Given the description of an element on the screen output the (x, y) to click on. 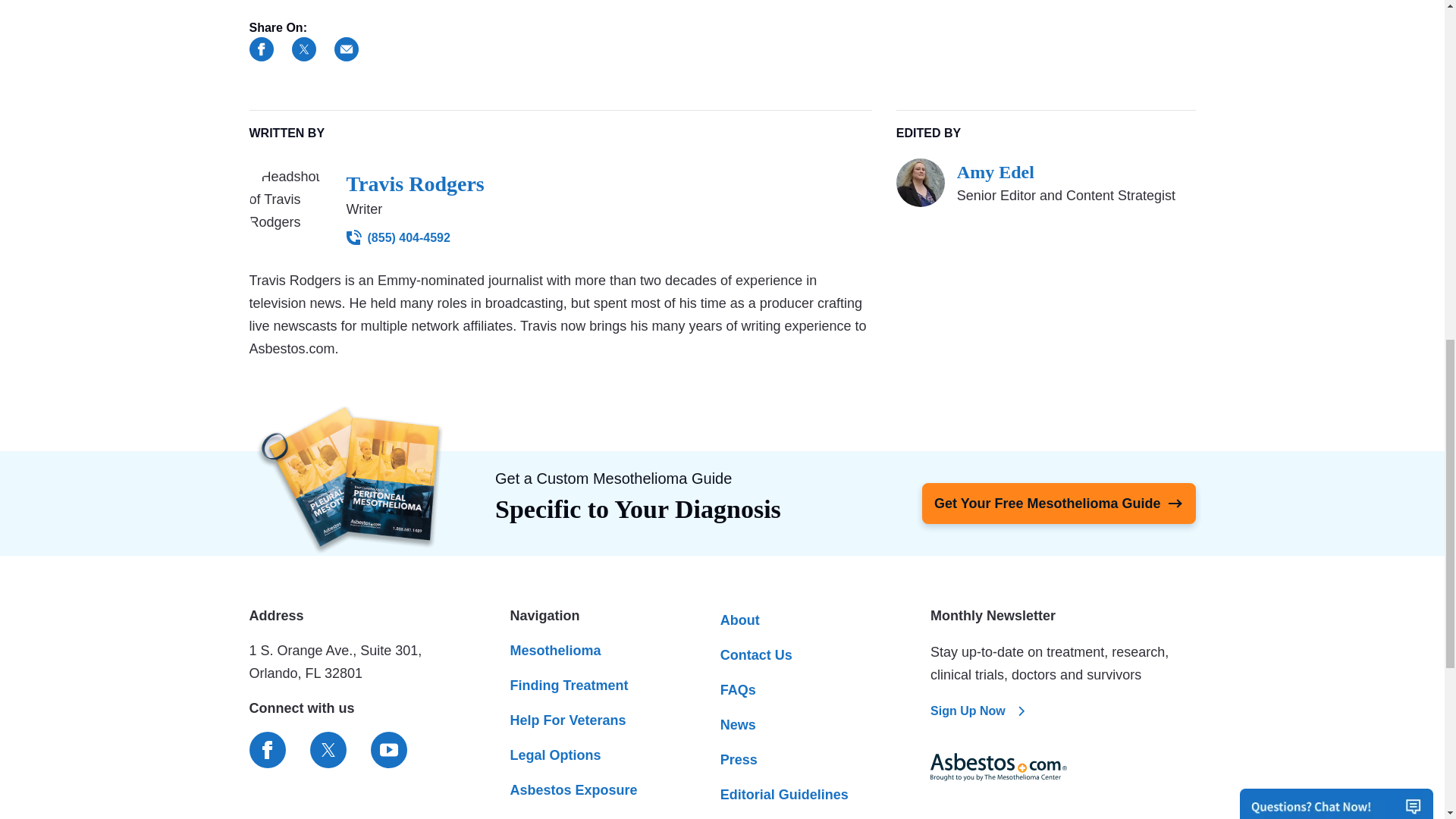
Share this blog on Facebook (260, 48)
Email (345, 48)
Share this blog on Twitter (303, 48)
